Given the description of an element on the screen output the (x, y) to click on. 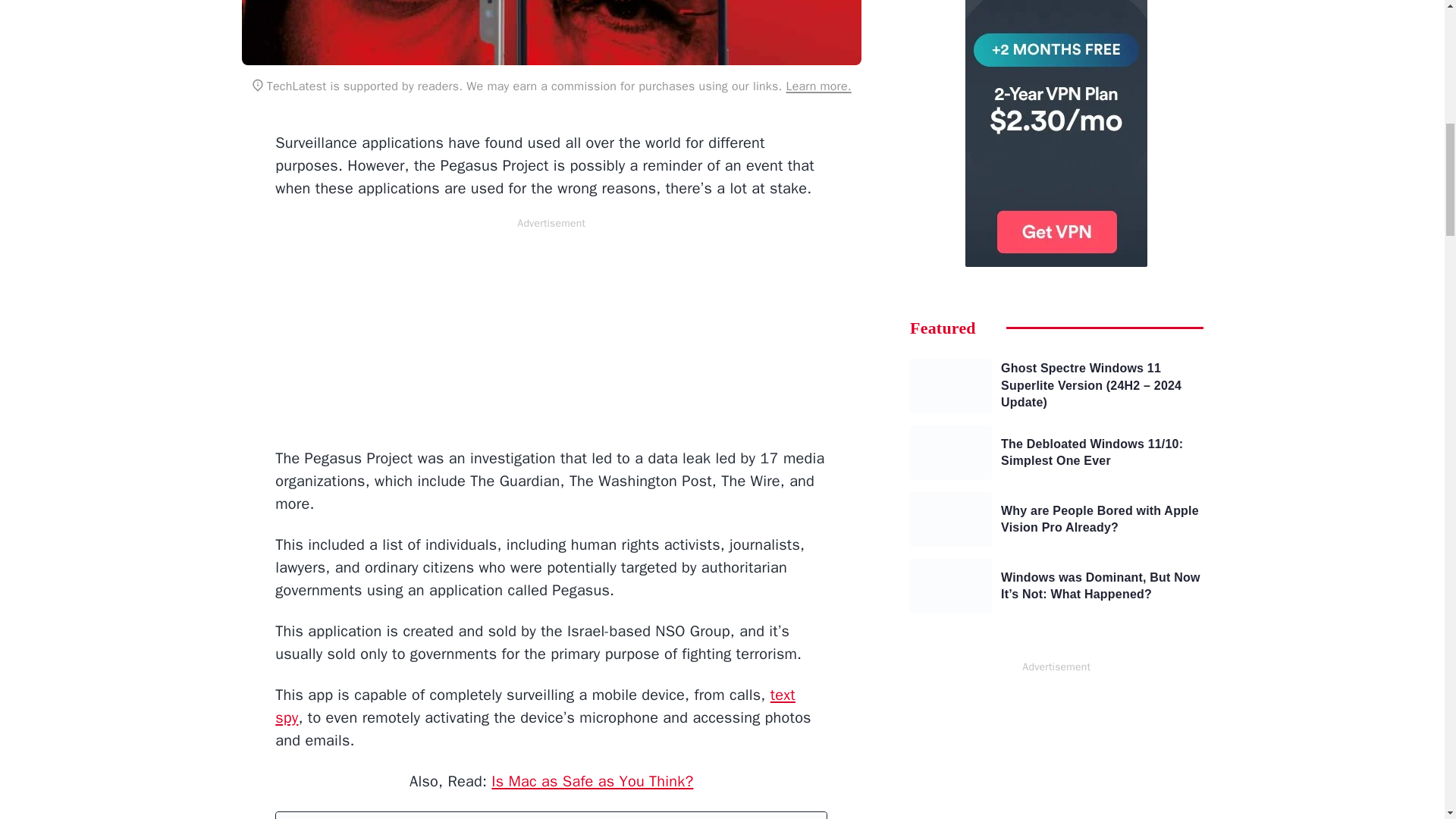
Learn more. (818, 86)
text spy (534, 706)
Is Mac as Safe as You Think? (592, 781)
